Given the description of an element on the screen output the (x, y) to click on. 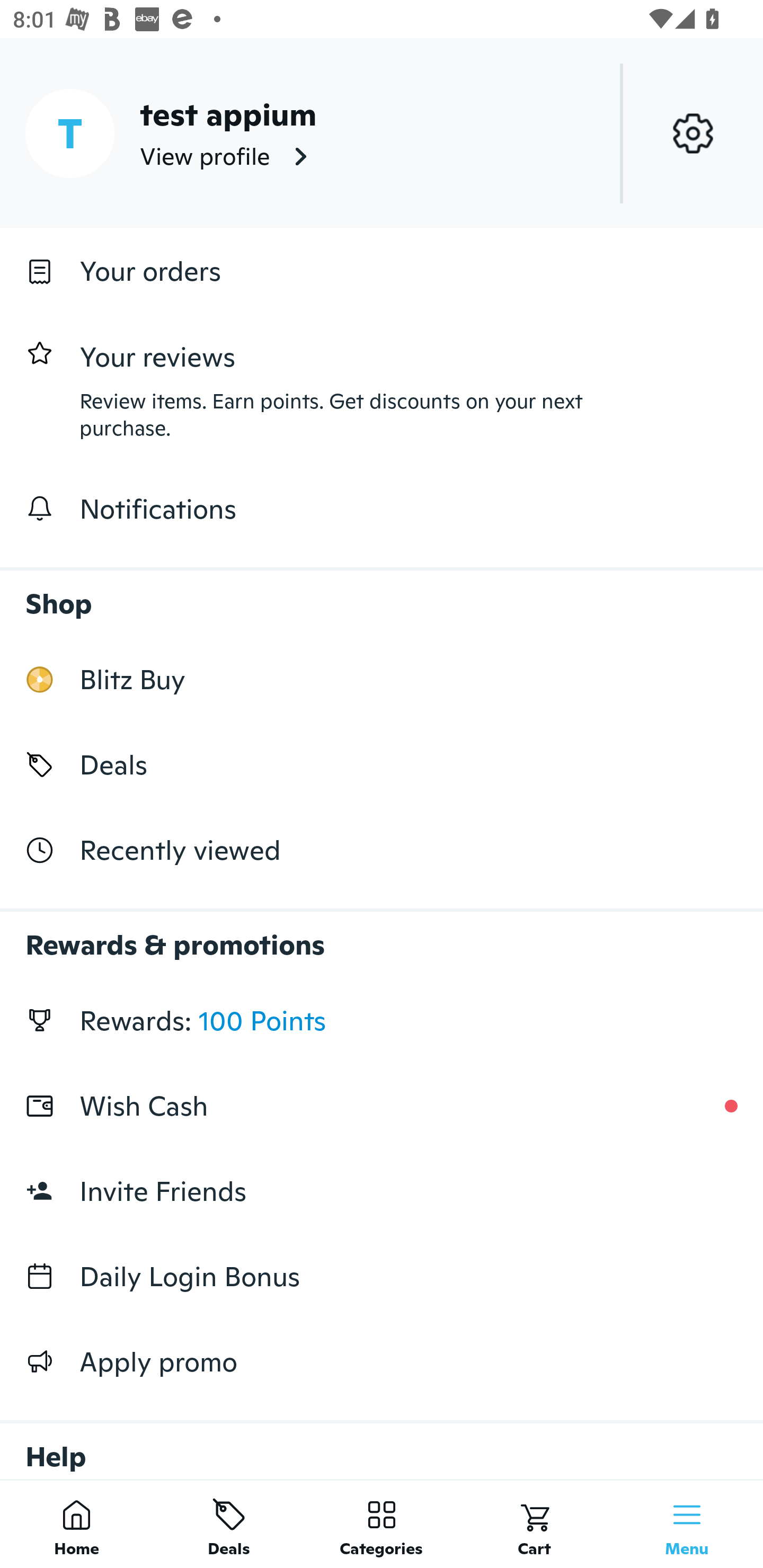
T test appium View profile (381, 132)
Your orders (381, 270)
Notifications (381, 508)
Shop (381, 593)
Blitz Buy (381, 679)
Deals (381, 764)
Recently viewed (381, 850)
Rewards & promotions (381, 935)
Rewards: 100 Points (381, 1020)
Wish Cash (381, 1106)
Invite Friends (381, 1190)
Daily Login Bonus (381, 1277)
Apply promo (381, 1361)
Help (381, 1441)
Home (76, 1523)
Deals (228, 1523)
Categories (381, 1523)
Cart (533, 1523)
Menu (686, 1523)
